Given the description of an element on the screen output the (x, y) to click on. 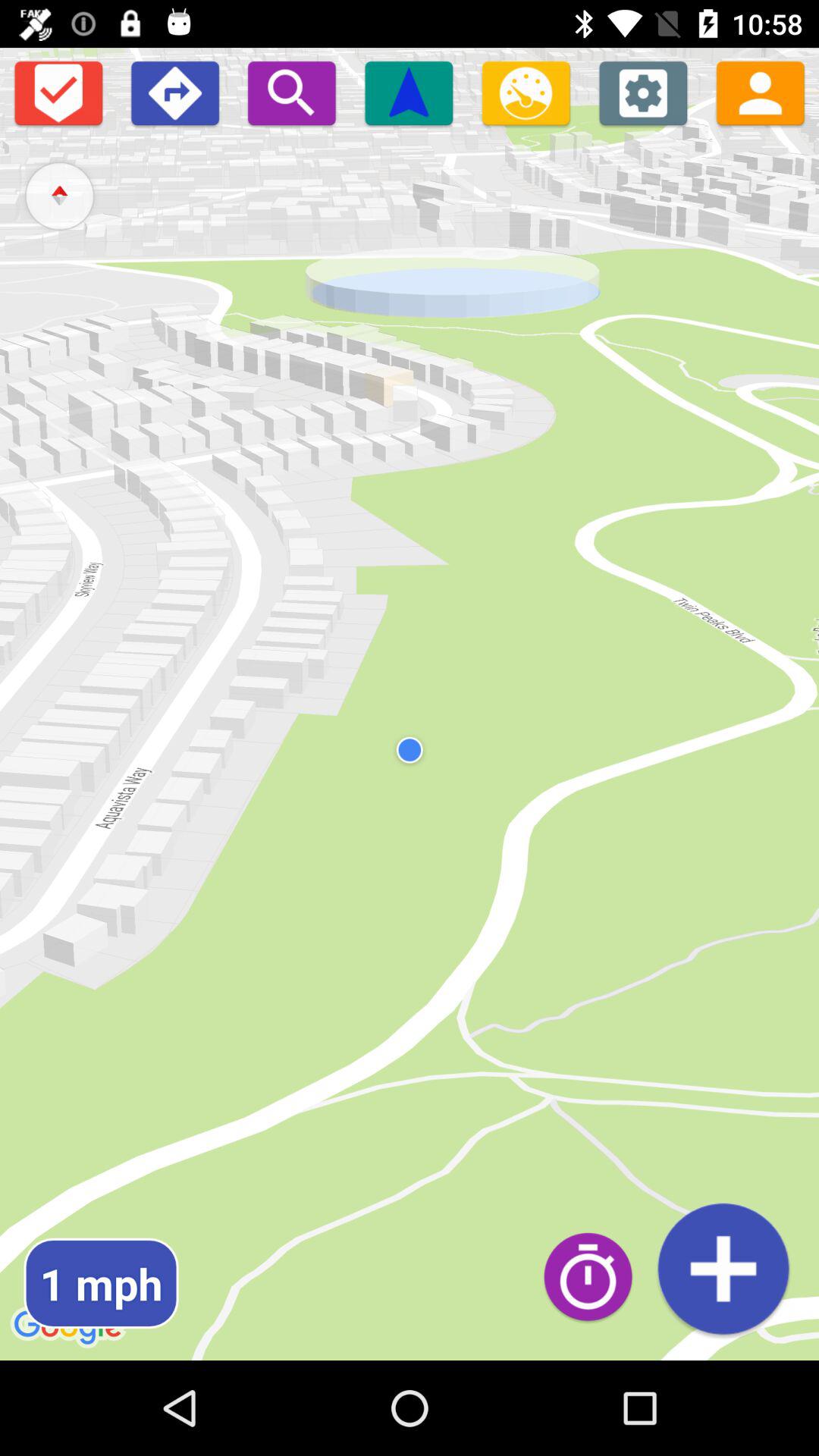
adjust zoom and scale (525, 92)
